Given the description of an element on the screen output the (x, y) to click on. 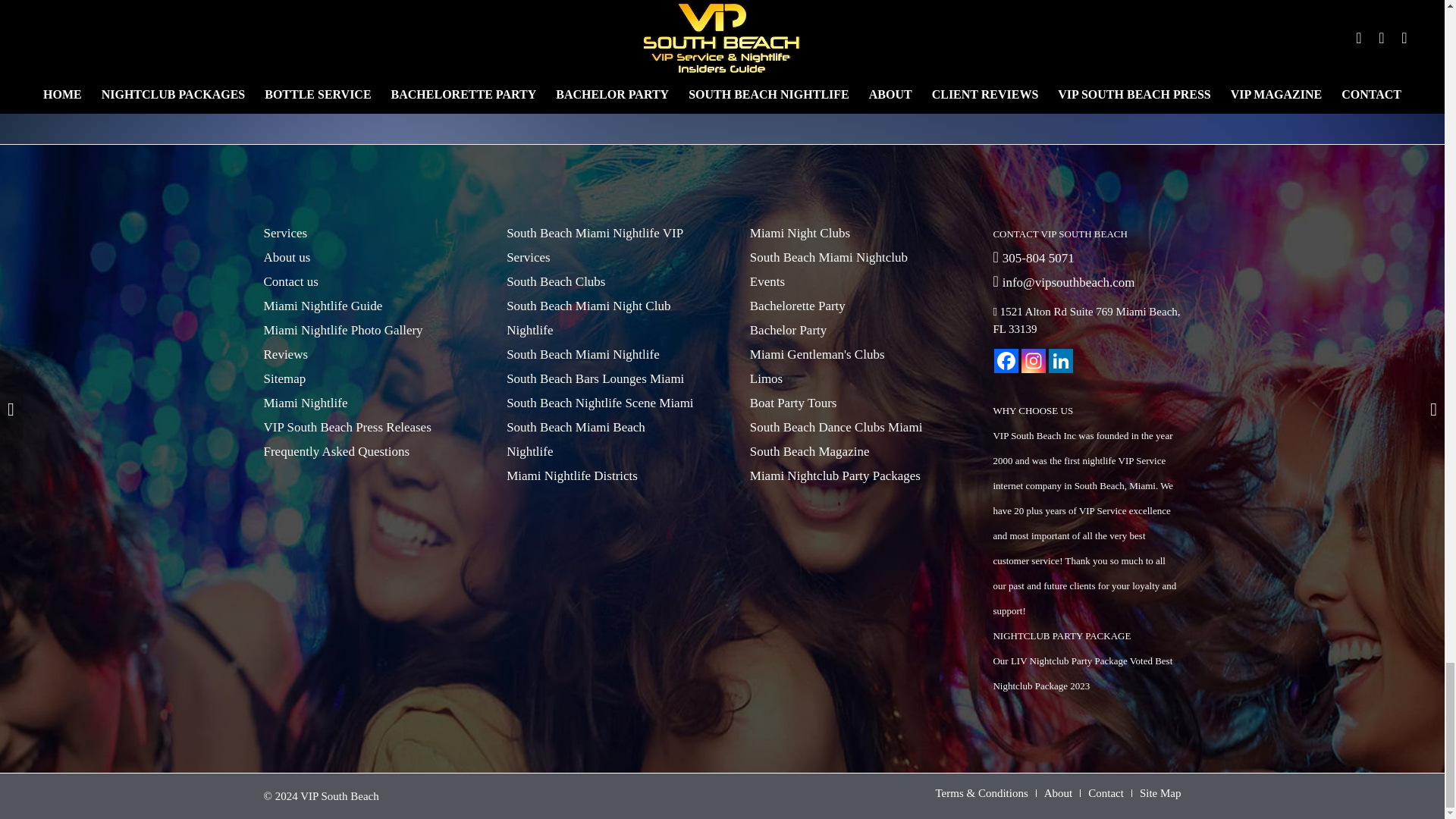
Liv Nightclub Miami Package (716, 20)
